Given the description of an element on the screen output the (x, y) to click on. 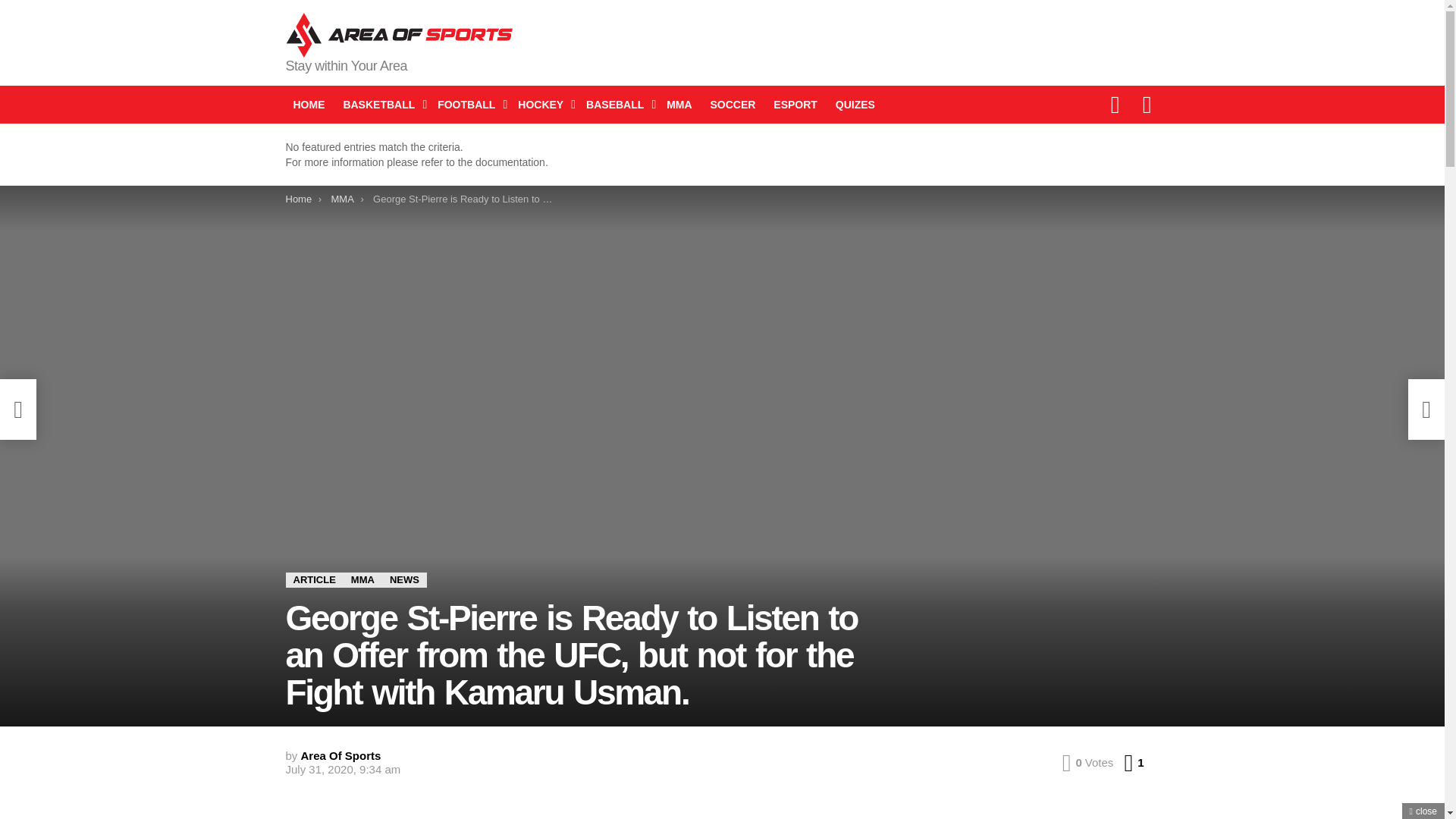
SOCCER (732, 104)
Area Of Sports (341, 755)
MMA (678, 104)
Posts by Area Of Sports (341, 755)
ESPORT (795, 104)
NEWS (403, 580)
BASEBALL (617, 104)
MMA (341, 198)
MMA (362, 580)
BASKETBALL (380, 104)
ARTICLE (313, 580)
Home (298, 198)
FOOTBALL (467, 104)
HOCKEY (543, 104)
QUIZES (855, 104)
